Given the description of an element on the screen output the (x, y) to click on. 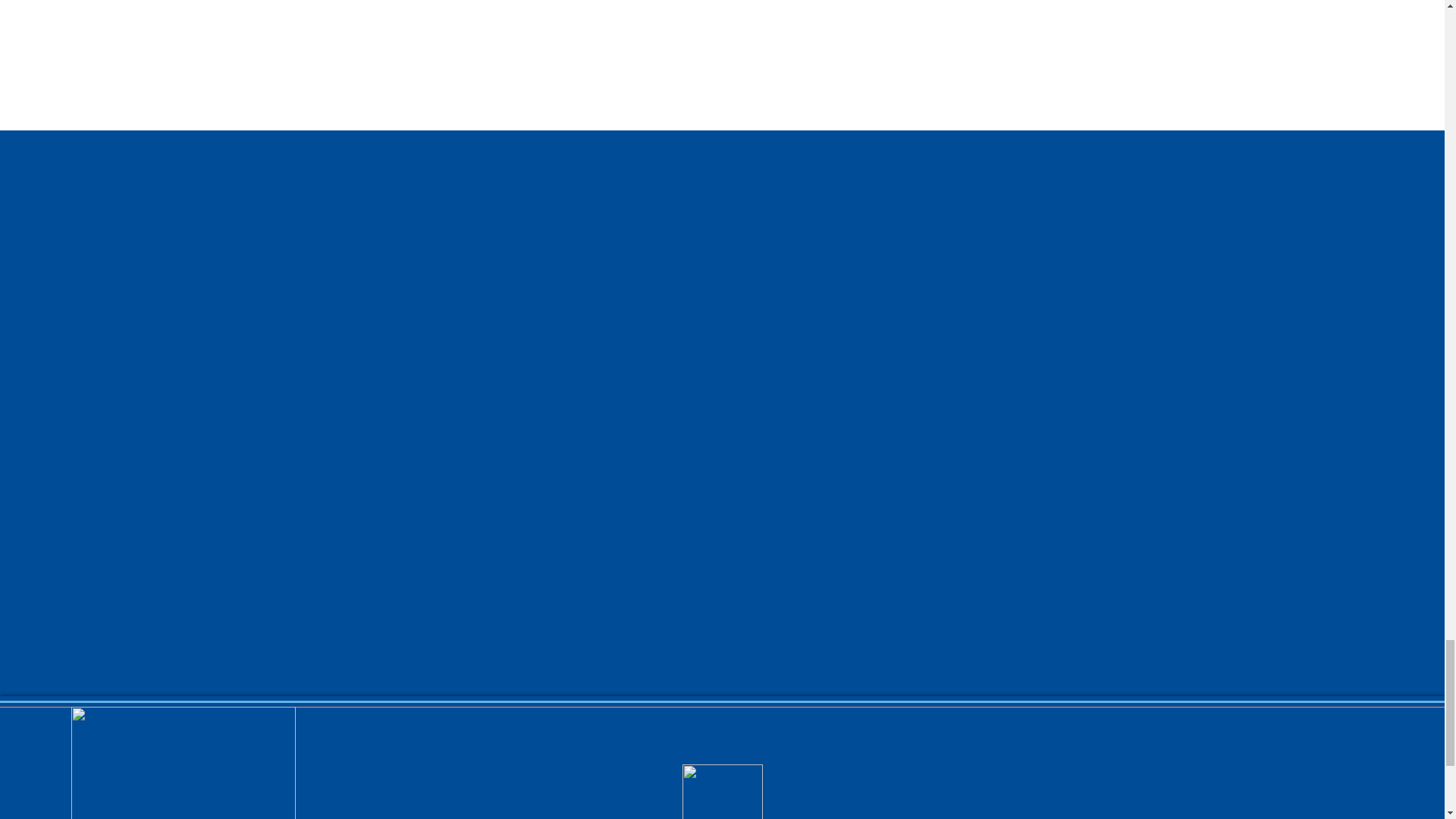
Paymentoptions.png (183, 762)
White Drop Only.png (722, 791)
